Given the description of an element on the screen output the (x, y) to click on. 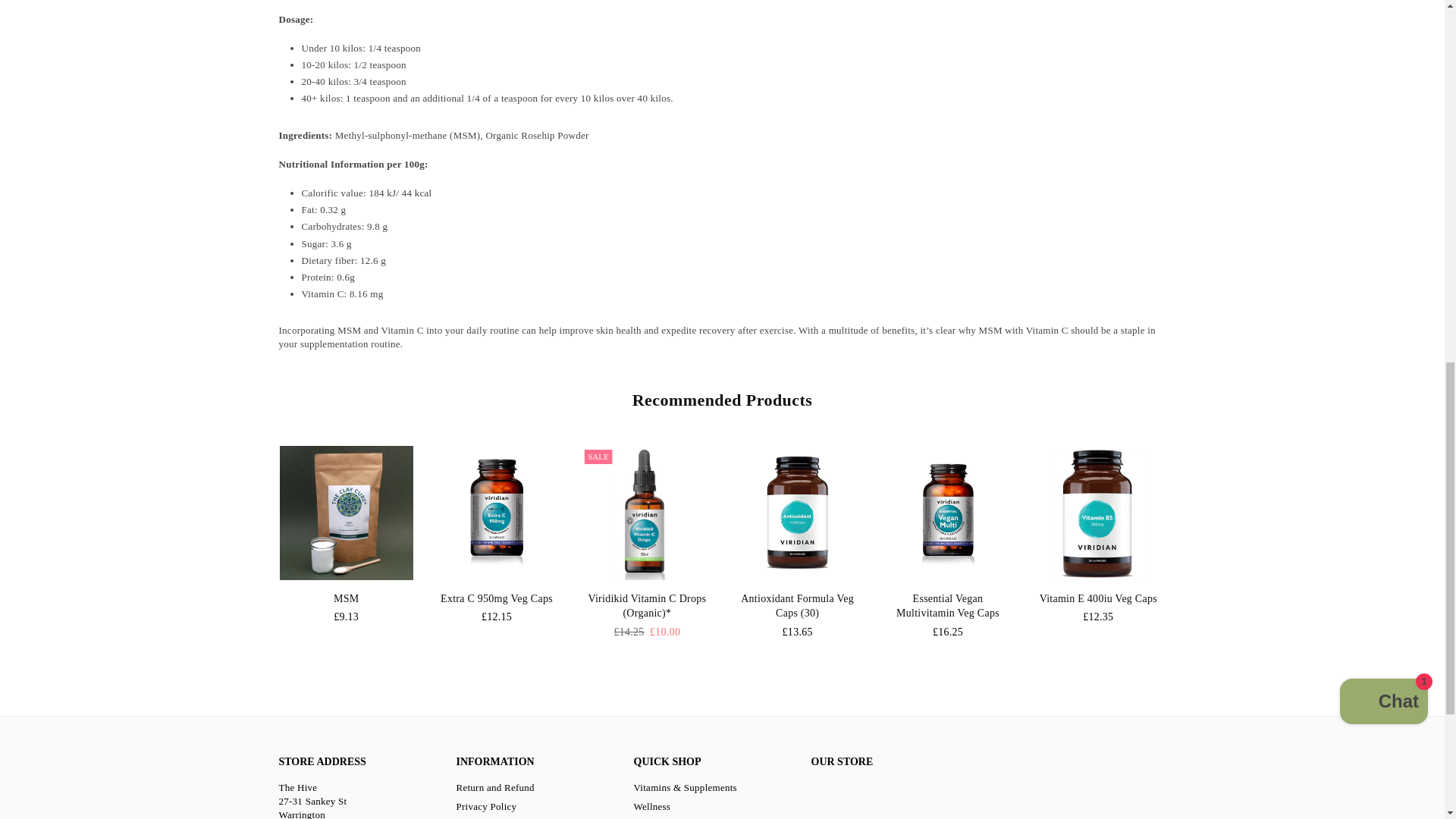
MSM (345, 512)
